Given the description of an element on the screen output the (x, y) to click on. 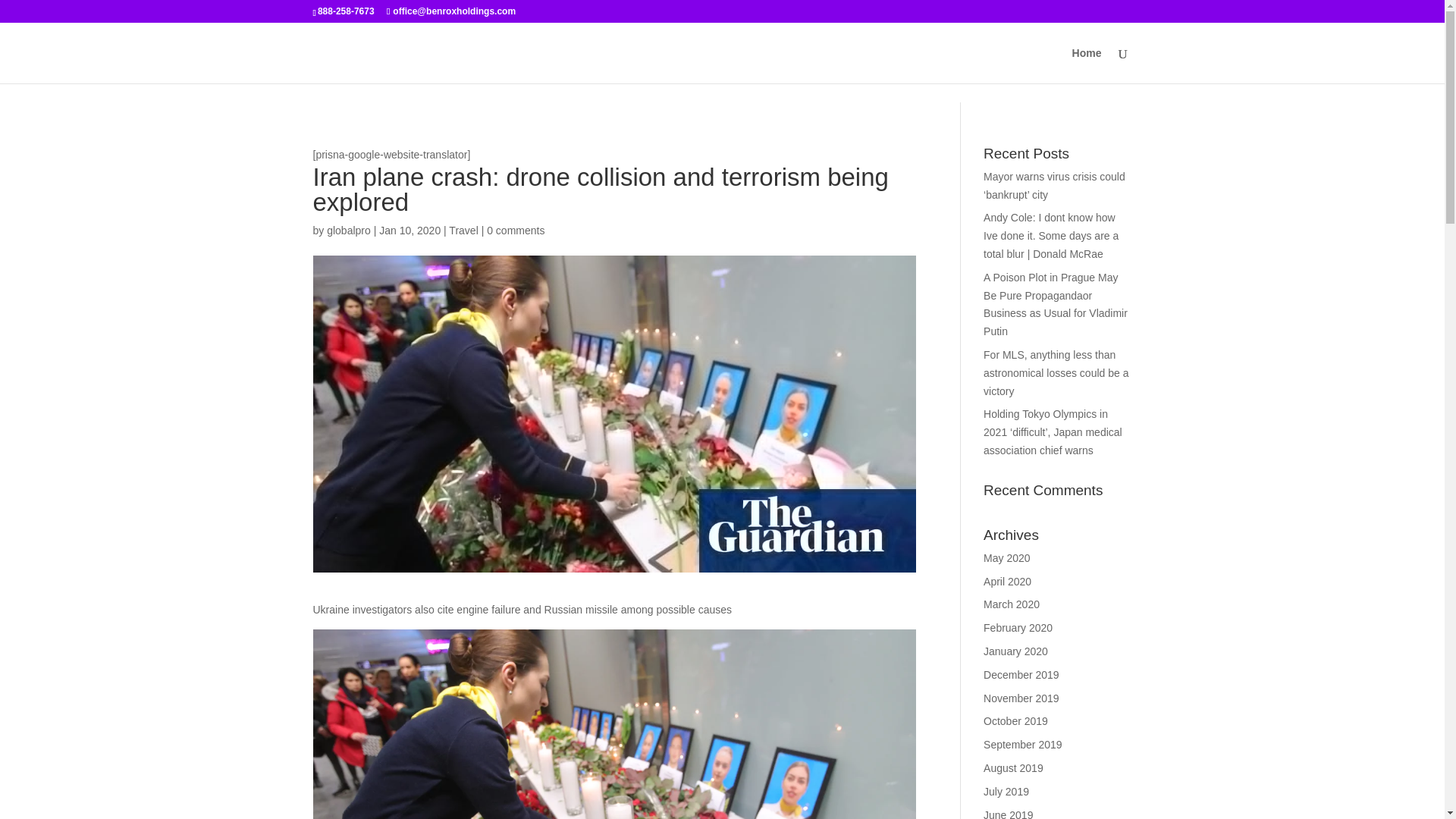
December 2019 (1021, 674)
September 2019 (1023, 744)
Posts by globalpro (348, 230)
March 2020 (1011, 604)
Travel (462, 230)
February 2020 (1018, 627)
August 2019 (1013, 767)
January 2020 (1016, 651)
globalpro (348, 230)
October 2019 (1016, 720)
May 2020 (1006, 558)
April 2020 (1007, 581)
0 comments (515, 230)
